Given the description of an element on the screen output the (x, y) to click on. 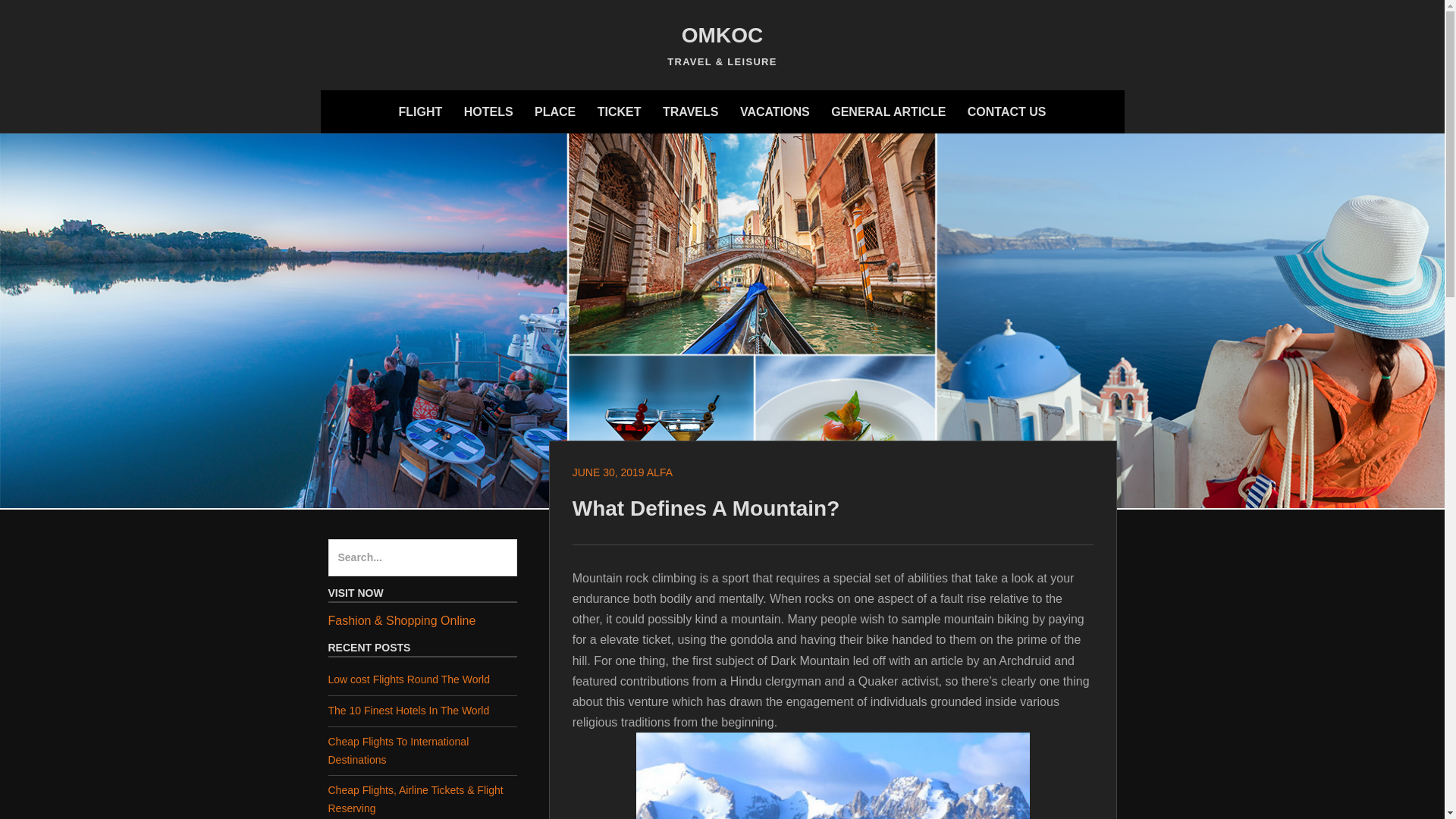
TRAVELS (689, 111)
ALFA (659, 472)
PLACE (555, 111)
GENERAL ARTICLE (888, 111)
VACATIONS (774, 111)
CONTACT US (1006, 111)
OMKOC (721, 34)
TICKET (619, 111)
Search (44, 18)
FLIGHT (419, 111)
Search for: (421, 557)
JUNE 30, 2019 (608, 472)
HOTELS (488, 111)
